Given the description of an element on the screen output the (x, y) to click on. 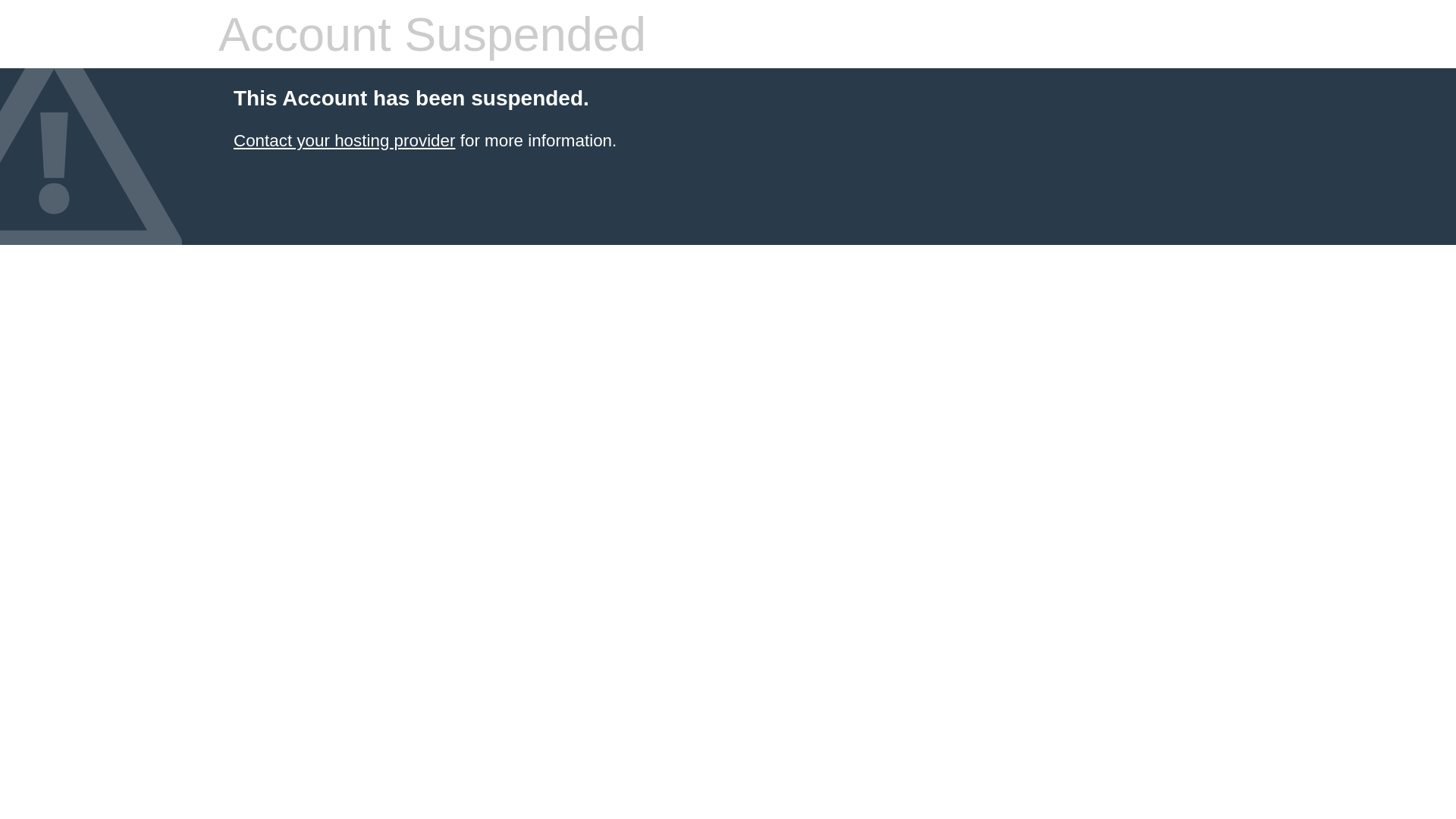
Contact your hosting provider Element type: text (344, 140)
